Given the description of an element on the screen output the (x, y) to click on. 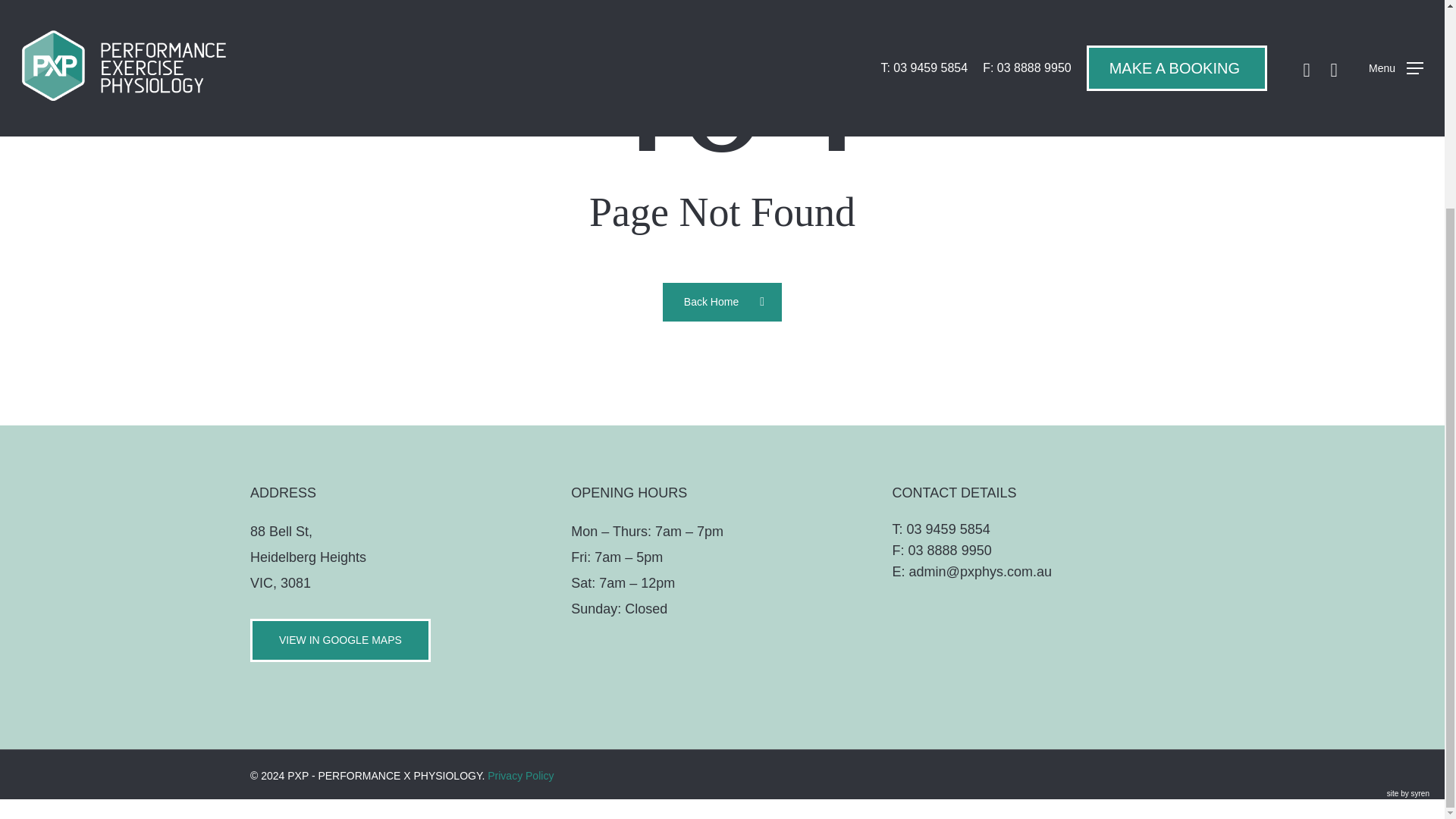
VIEW IN GOOGLE MAPS (340, 640)
03 9459 5854 (948, 529)
site by syren (1408, 793)
Privacy Policy (520, 775)
Back Home (722, 301)
